Given the description of an element on the screen output the (x, y) to click on. 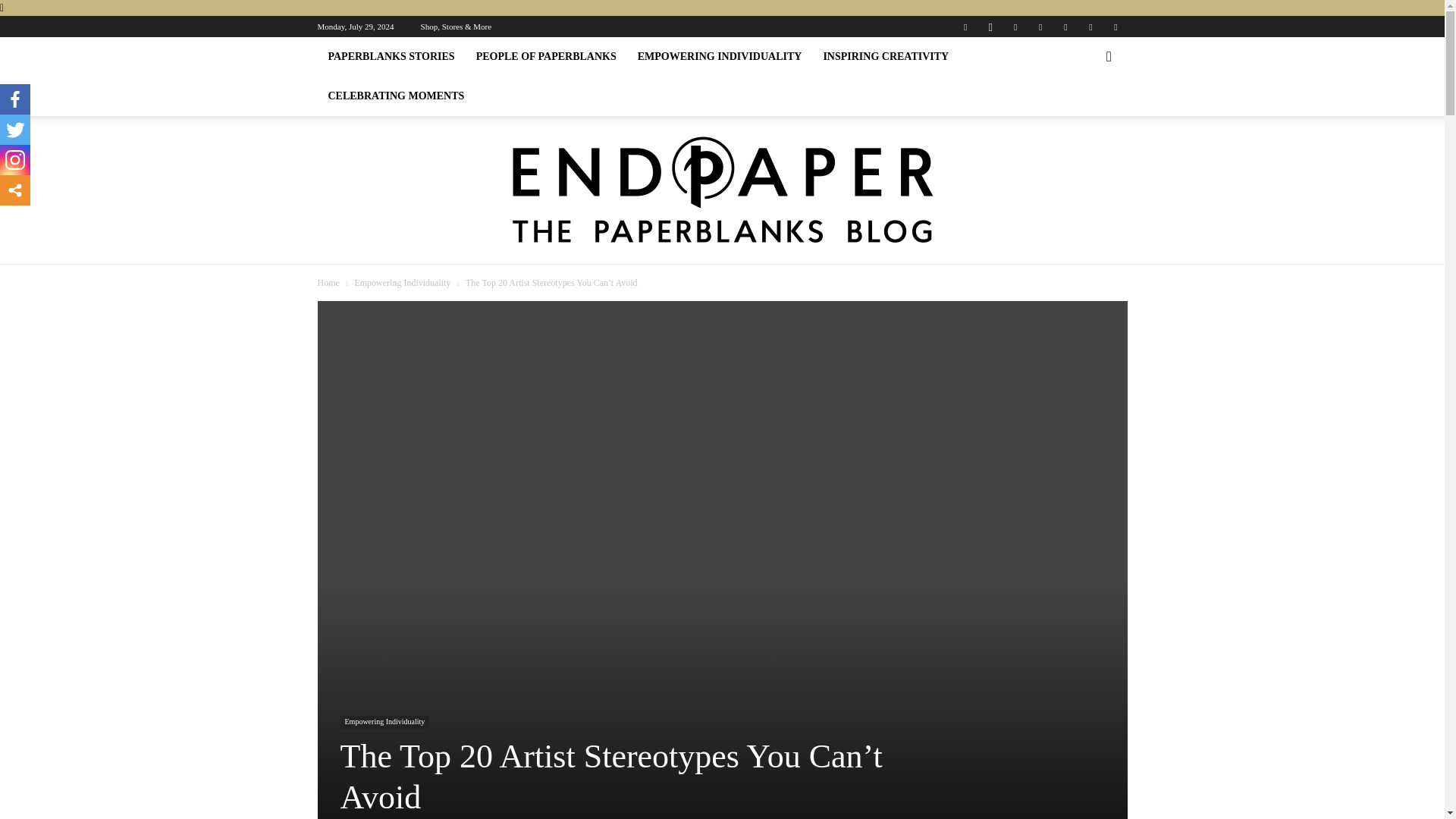
View all posts in Empowering Individuality (401, 282)
PEOPLE OF PAPERBLANKS (546, 56)
Pinterest (1040, 25)
Youtube (1114, 25)
Home (328, 282)
CELEBRATING MOMENTS (395, 96)
Endpaper: The Paperblanks Blog (722, 189)
Instagram (989, 25)
EMPOWERING INDIVIDUALITY (719, 56)
Search (1085, 119)
TikTok (1065, 25)
Twitter (1090, 25)
INSPIRING CREATIVITY (885, 56)
Facebook (964, 25)
Empowering Individuality (401, 282)
